Given the description of an element on the screen output the (x, y) to click on. 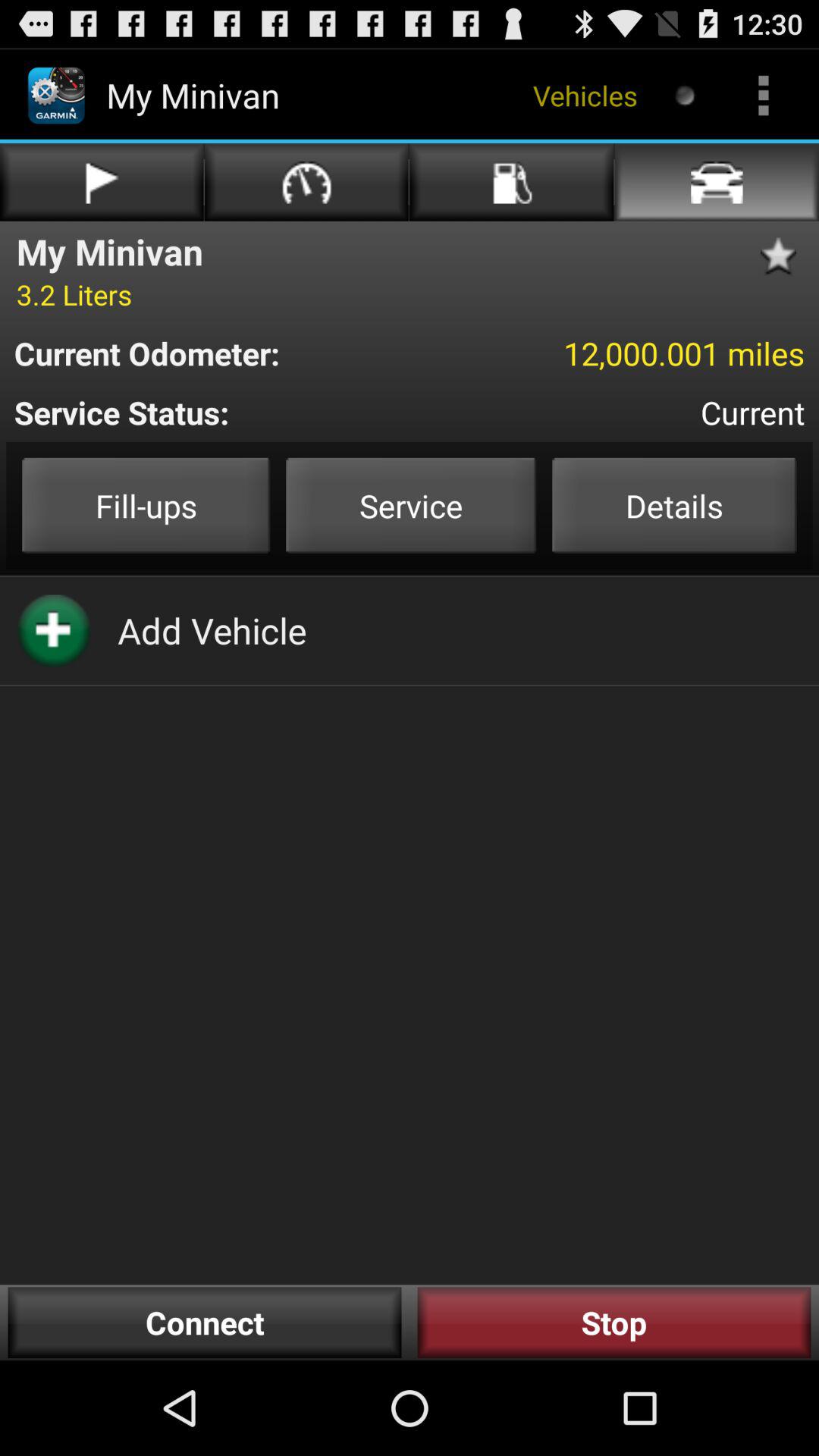
press the button next to stop icon (204, 1322)
